Given the description of an element on the screen output the (x, y) to click on. 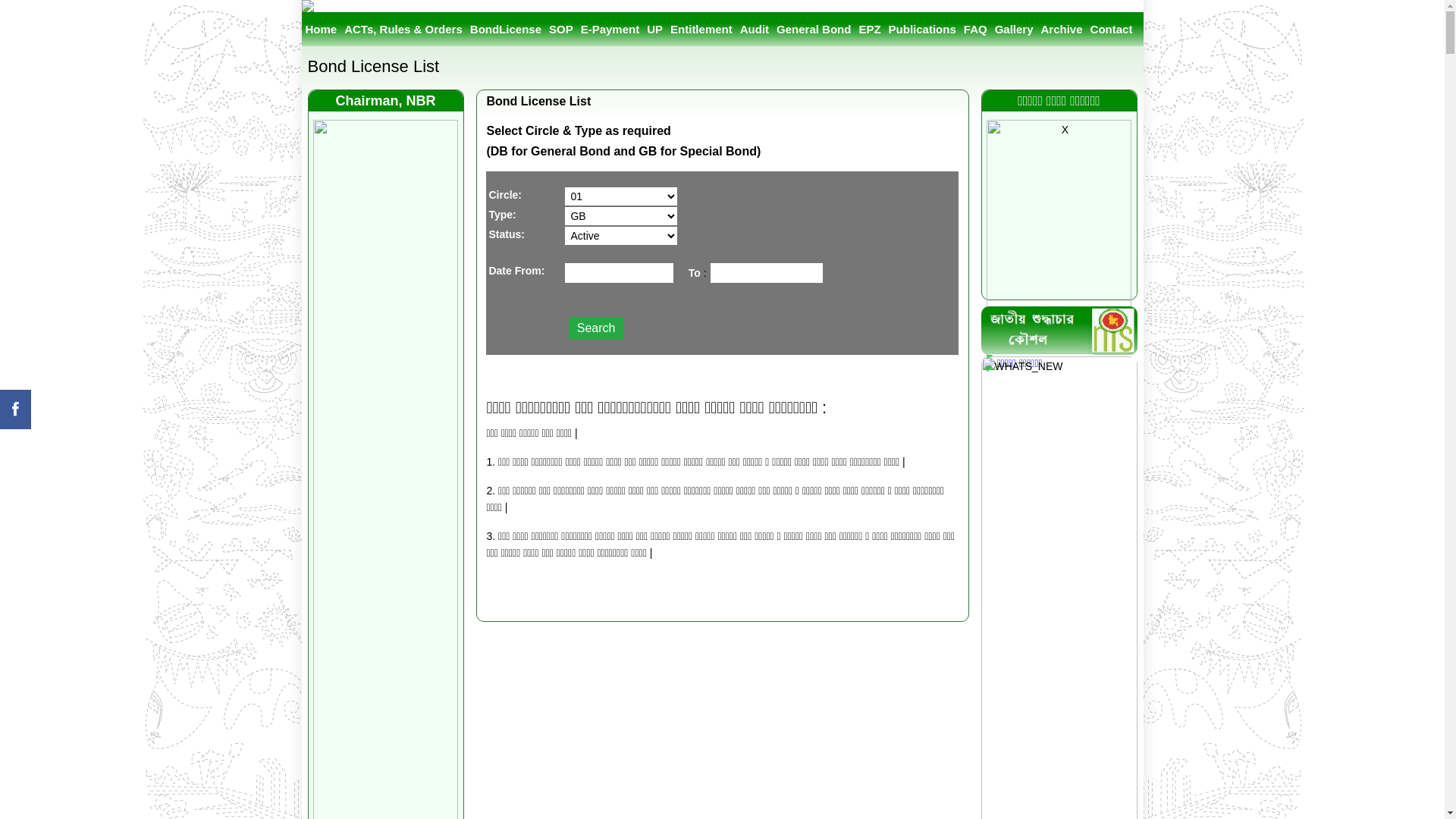
General Bond Element type: text (813, 29)
E-Payment Element type: text (610, 29)
Search Element type: text (596, 327)
Entitlement Element type: text (701, 29)
UP Element type: text (654, 29)
FAQ Element type: text (975, 29)
Contact Element type: text (1111, 29)
EPZ Element type: text (869, 29)
Publications Element type: text (922, 29)
Archive Element type: text (1061, 29)
SOP Element type: text (561, 29)
Audit Element type: text (754, 29)
ACTs, Rules & Orders Element type: text (403, 29)
BondLicense Element type: text (505, 29)
Gallery Element type: text (1014, 29)
Home Element type: text (321, 29)
